Given the description of an element on the screen output the (x, y) to click on. 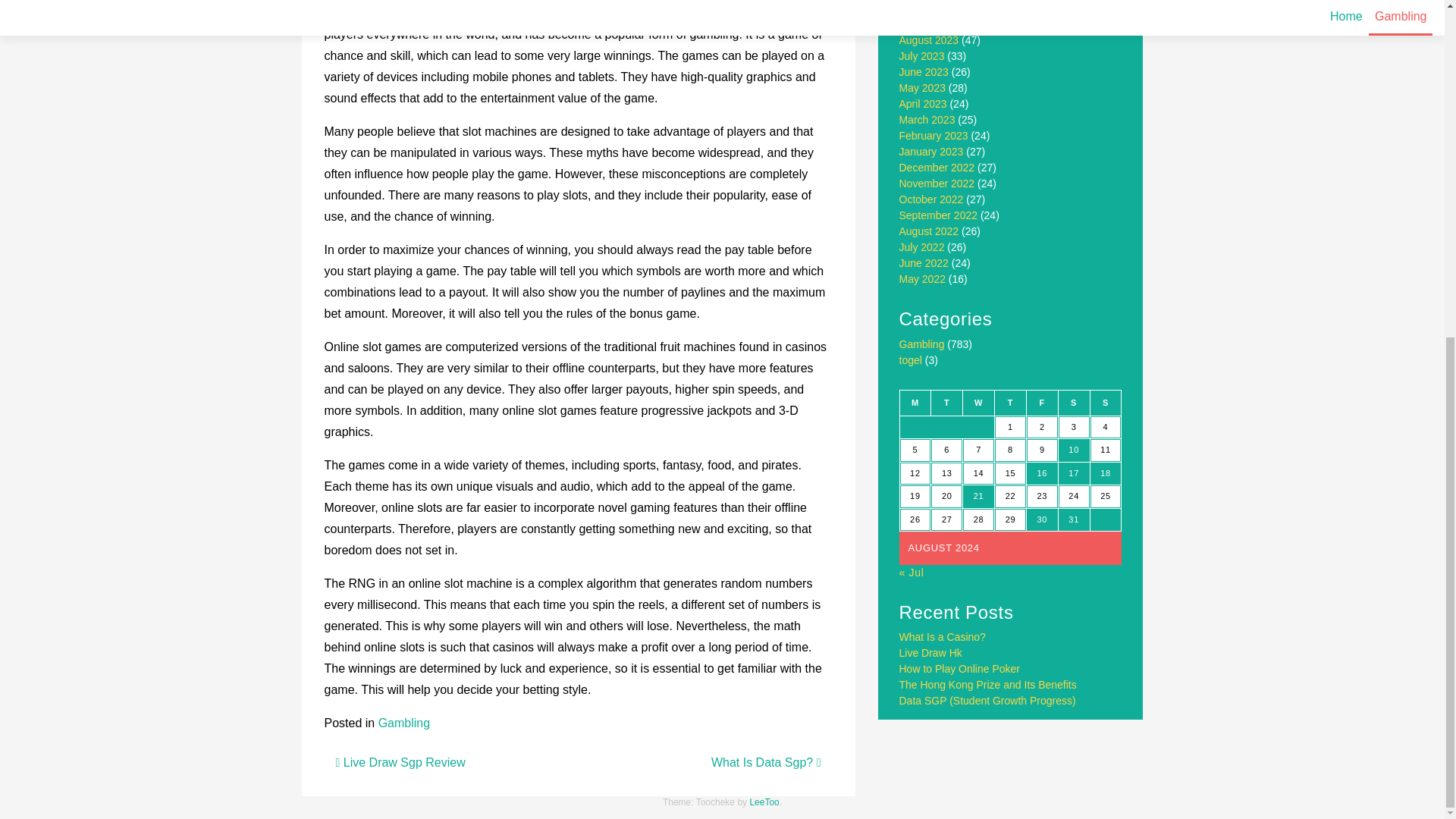
Wednesday (978, 402)
July 2023 (921, 55)
June 2023 (924, 71)
Monday (915, 402)
togel (910, 359)
August 2023 (929, 39)
What Is Data Sgp?  (766, 762)
Friday (1042, 402)
April 2023 (923, 103)
December 2022 (937, 167)
